Given the description of an element on the screen output the (x, y) to click on. 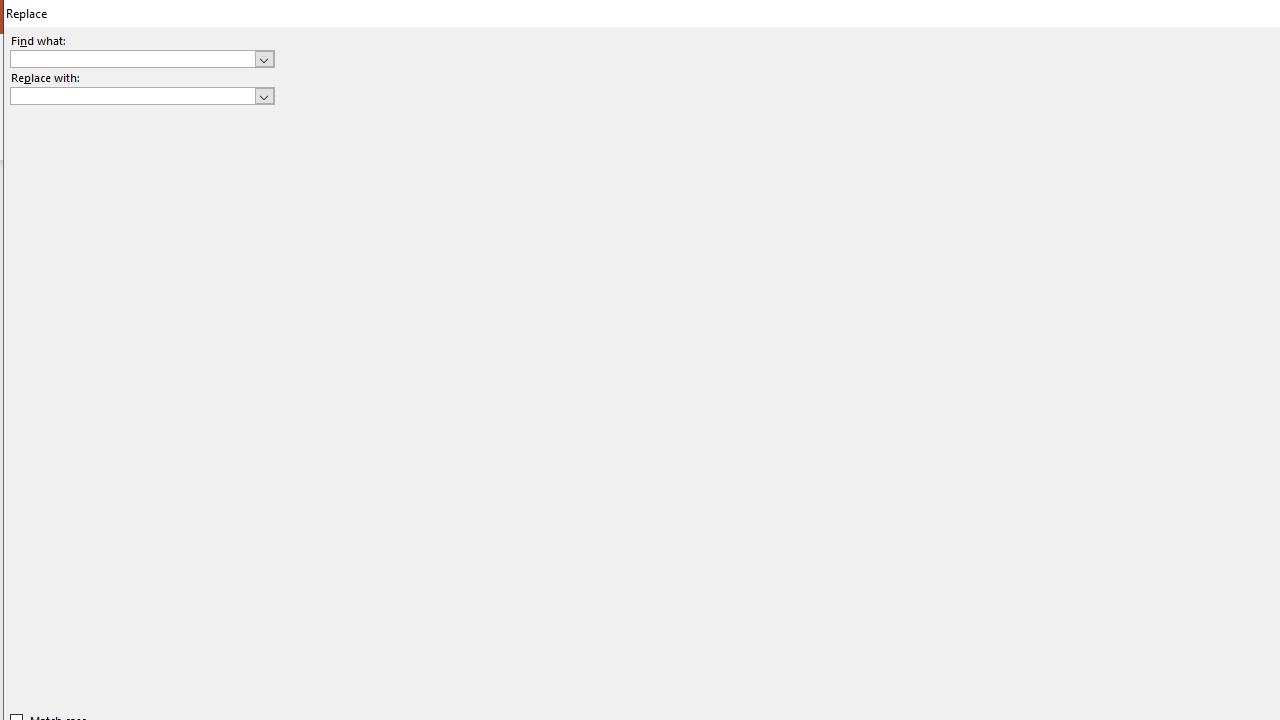
Replace with (142, 96)
Find what (132, 58)
Find what (142, 58)
Replace with (132, 95)
